Given the description of an element on the screen output the (x, y) to click on. 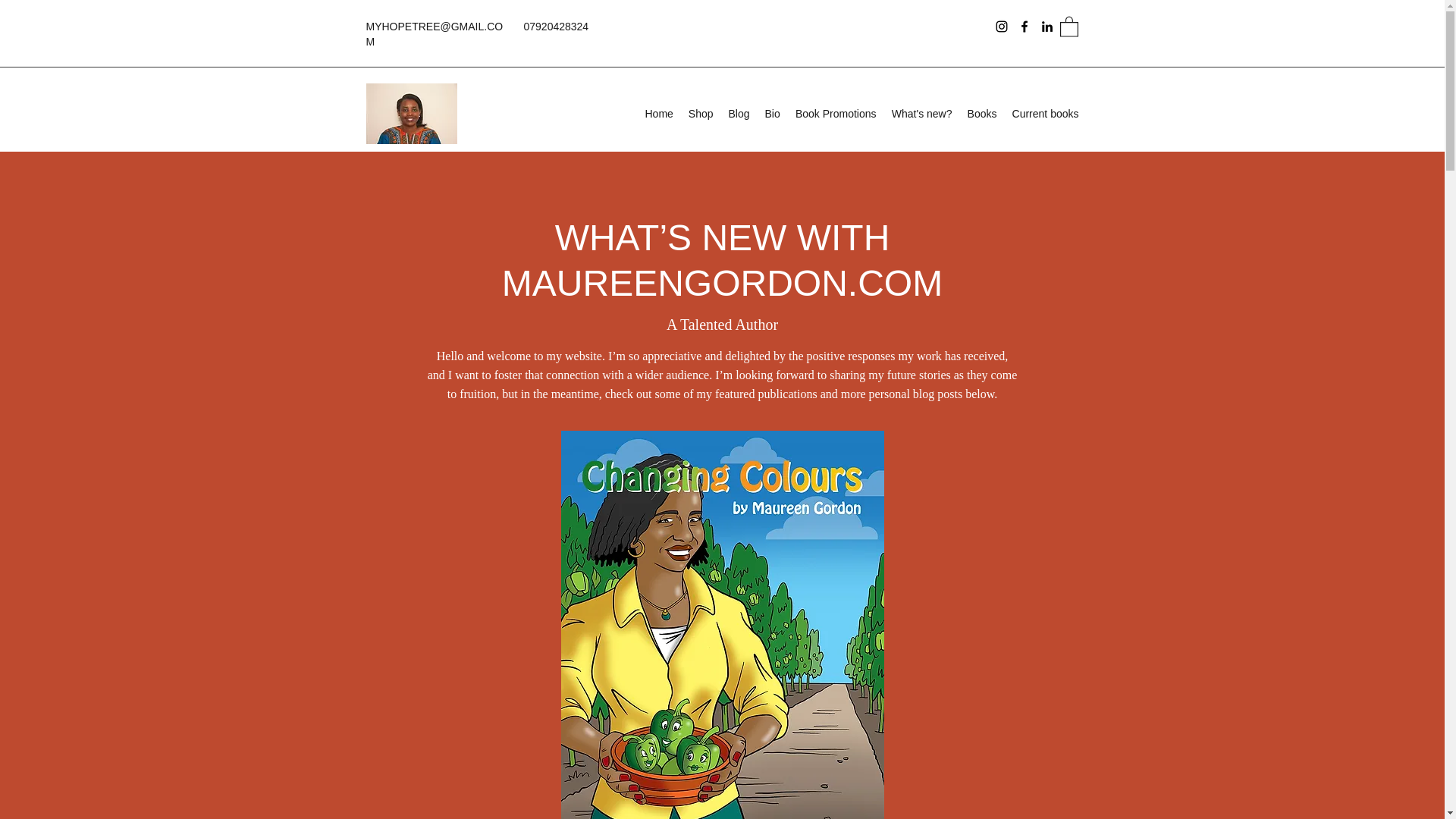
Books (981, 113)
Current books (1045, 113)
Blog (738, 113)
What's new? (921, 113)
Home (658, 113)
Shop (700, 113)
Bio (772, 113)
Book Promotions (835, 113)
